Given the description of an element on the screen output the (x, y) to click on. 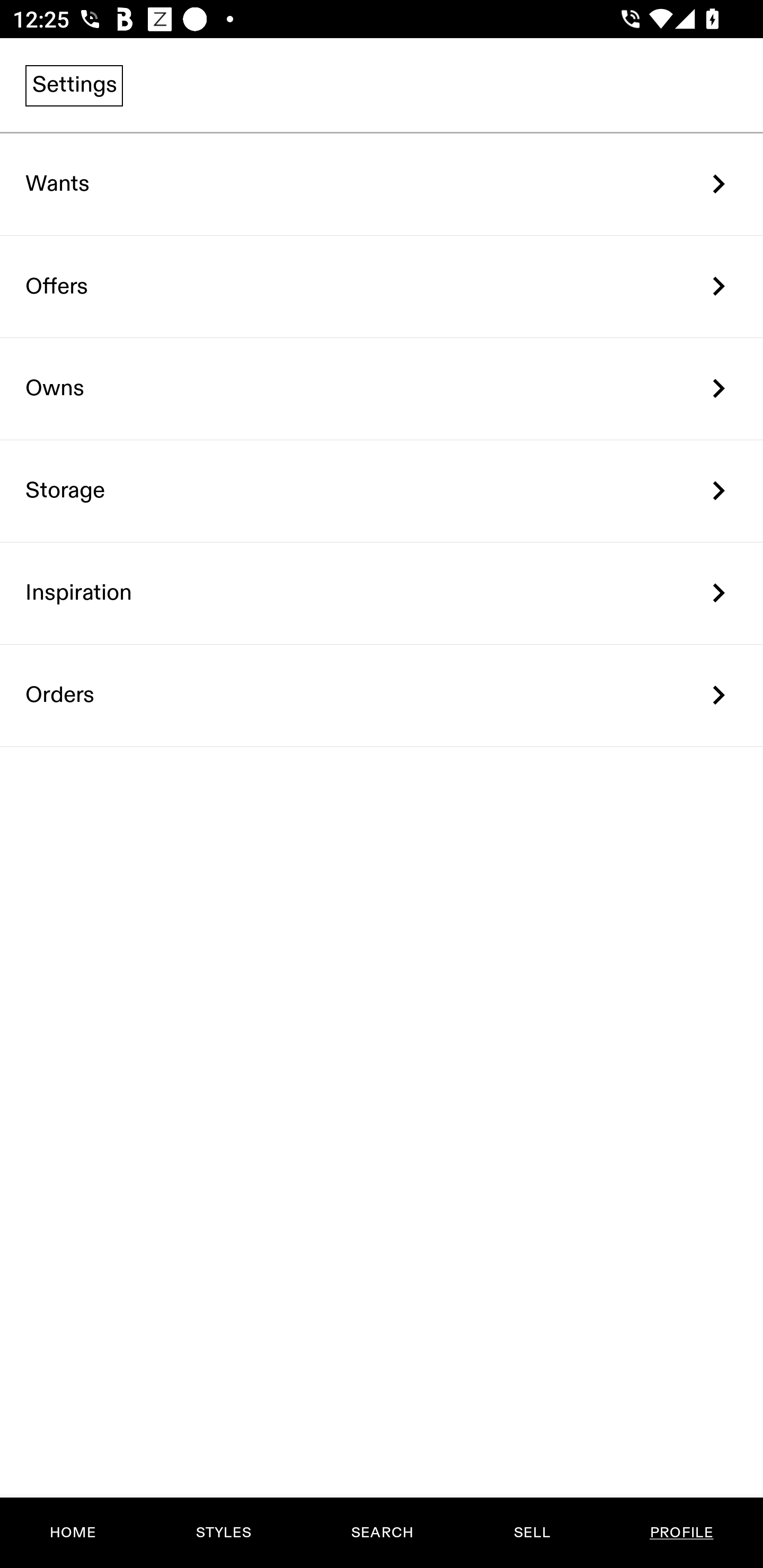
Settings (73, 85)
Wants (381, 184)
Offers (381, 286)
Owns (381, 388)
Storage (381, 491)
Inspiration (381, 593)
Orders (381, 695)
HOME (72, 1532)
STYLES (222, 1532)
SEARCH (381, 1532)
SELL (531, 1532)
PROFILE (681, 1532)
